Given the description of an element on the screen output the (x, y) to click on. 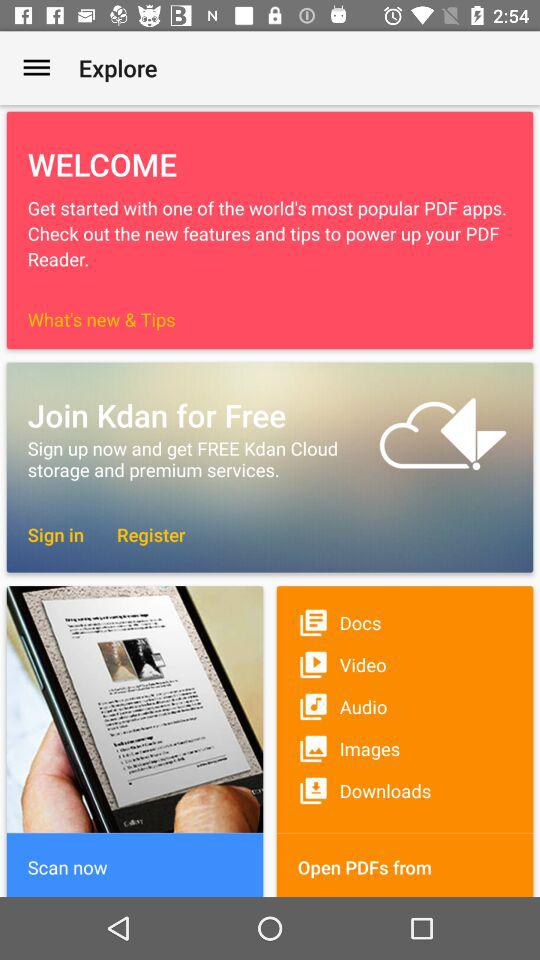
turn on the item to the right of the sign in item (141, 534)
